Given the description of an element on the screen output the (x, y) to click on. 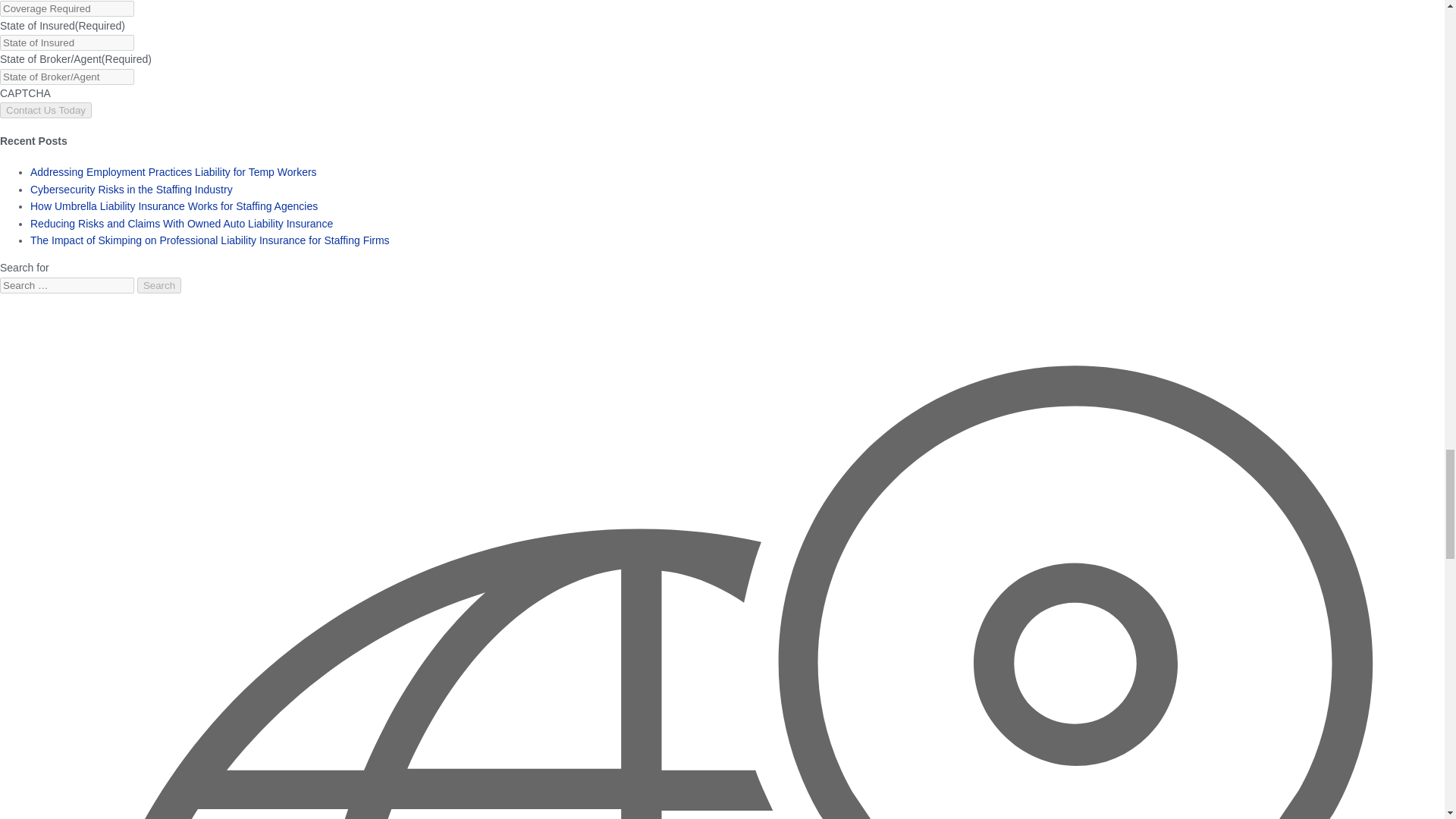
Search for: (66, 285)
